Given the description of an element on the screen output the (x, y) to click on. 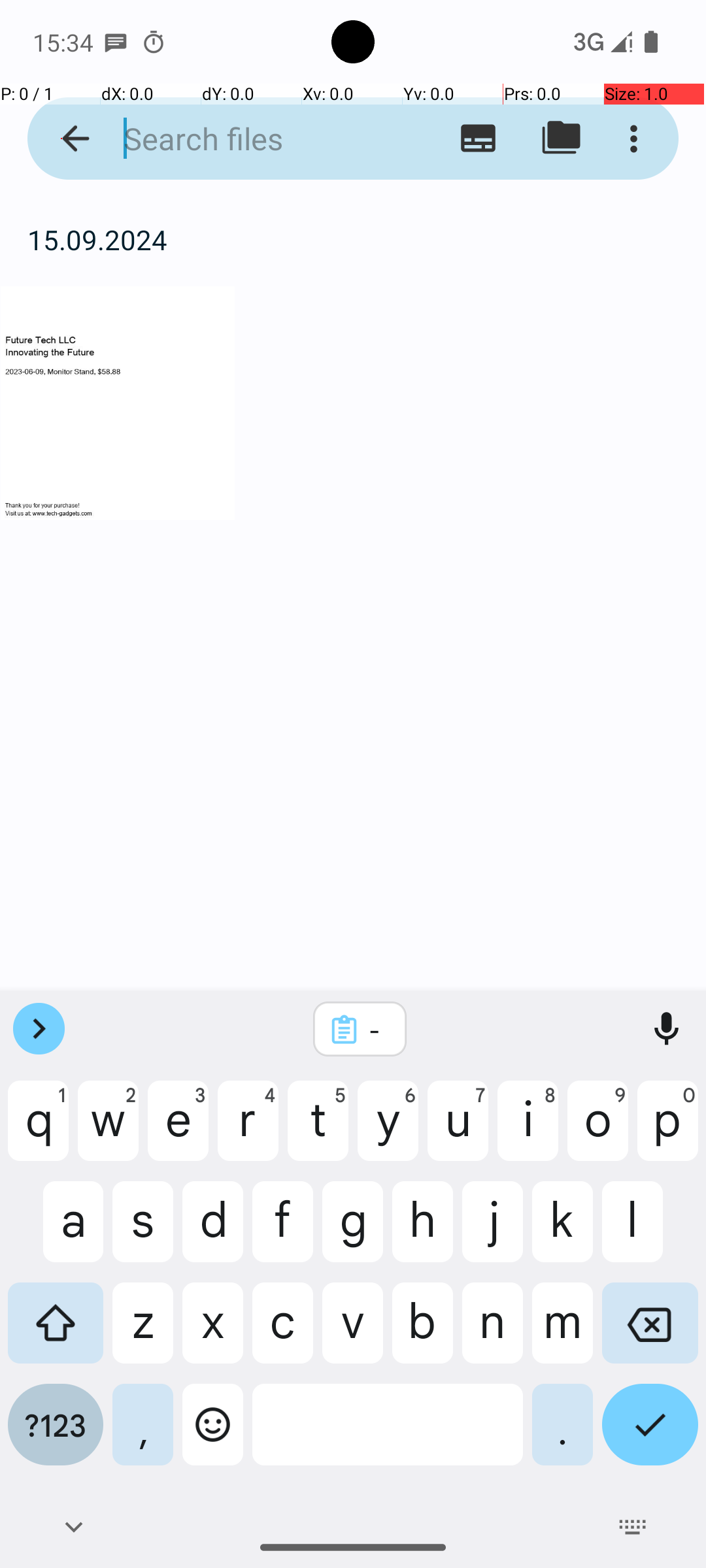
Search files Element type: android.widget.EditText (252, 138)
Switch to folder view Element type: android.widget.Button (560, 138)
15.09.2024 Element type: android.widget.TextView (353, 239)
